Given the description of an element on the screen output the (x, y) to click on. 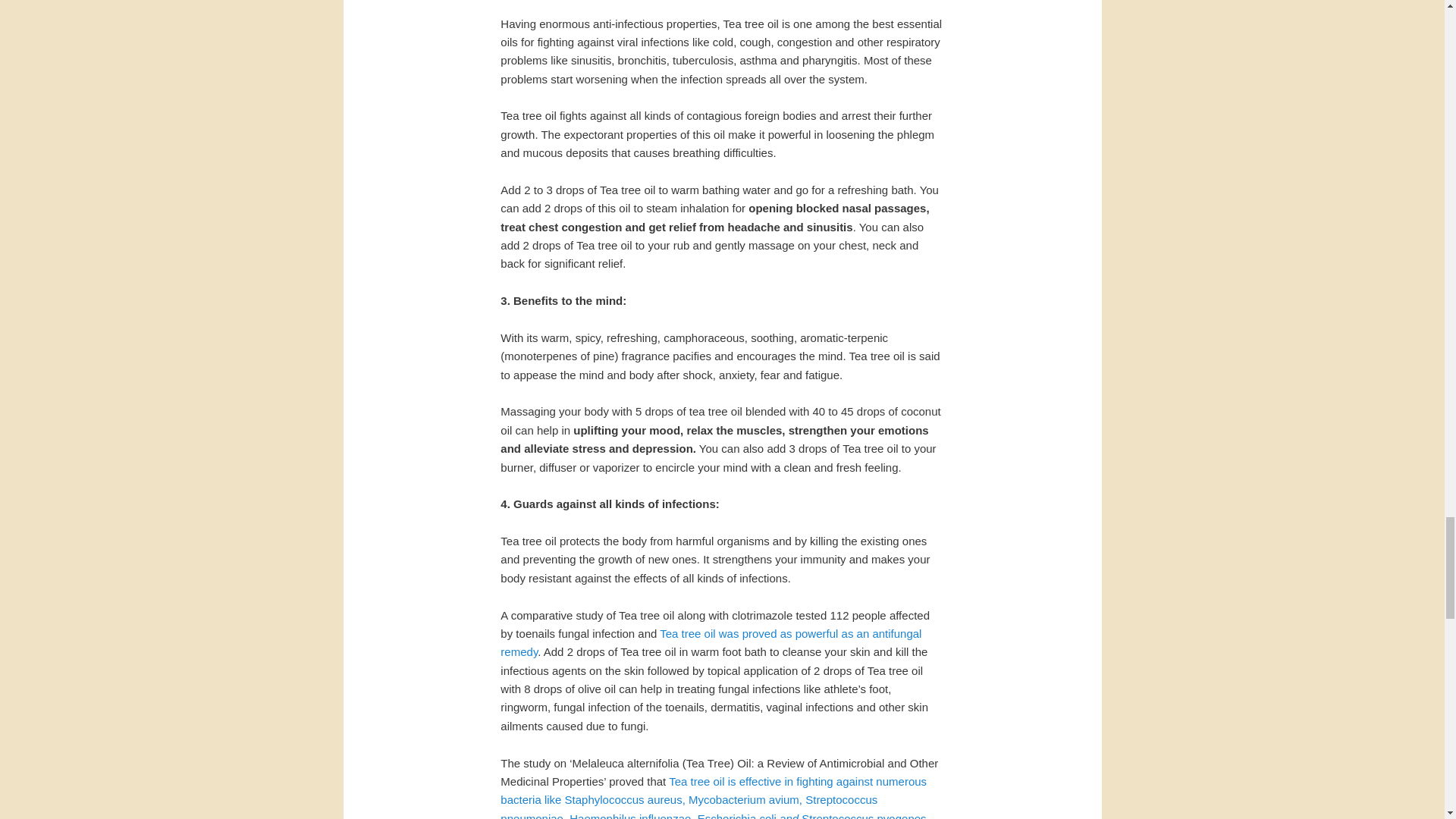
Tea tree oil was proved as powerful as an antifungal remedy (710, 642)
